Given the description of an element on the screen output the (x, y) to click on. 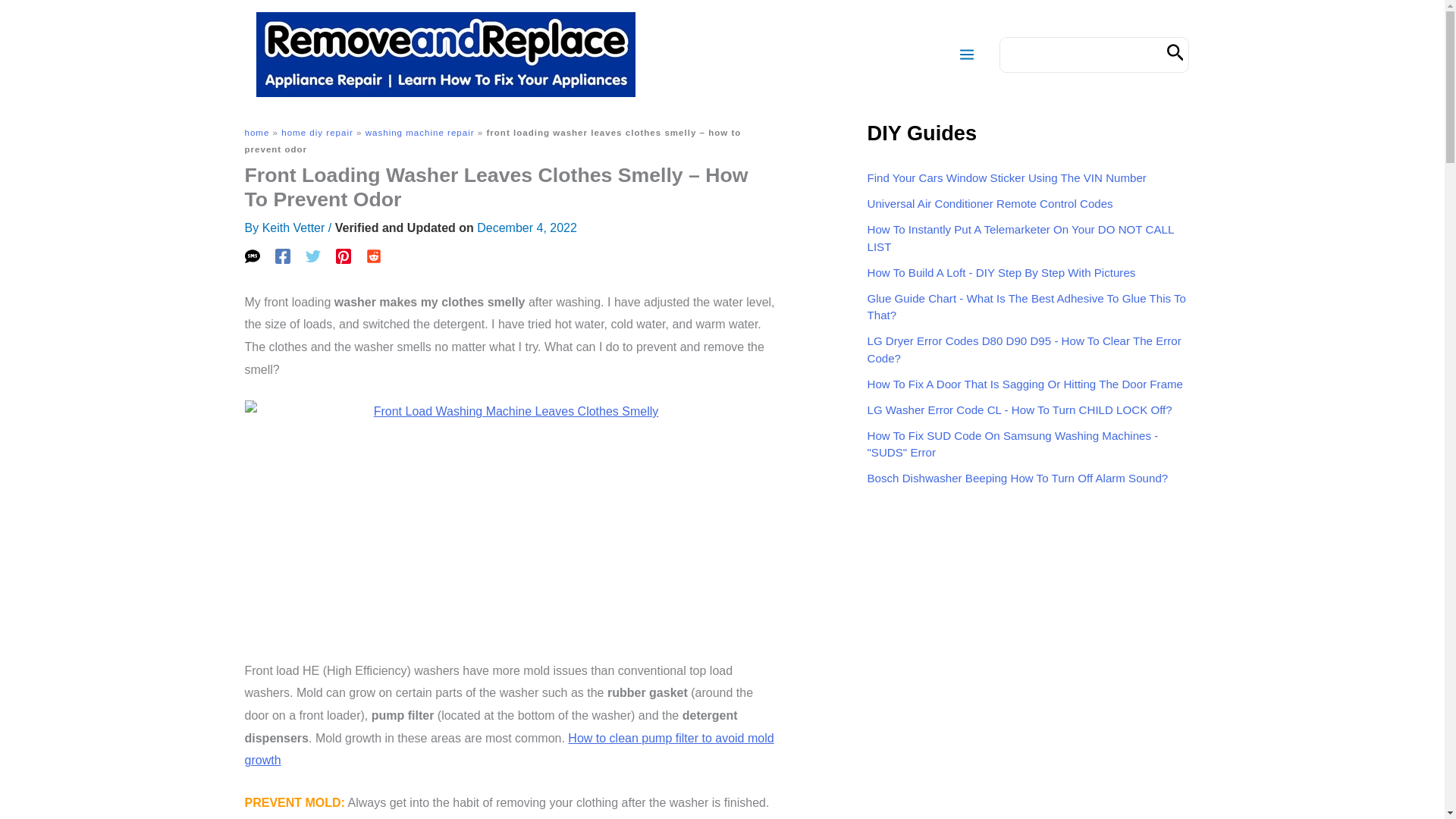
Front Load Washing Machine Leaves Clothes Smelly (509, 519)
View all posts by Keith Vetter (293, 227)
Main Menu (966, 54)
